Given the description of an element on the screen output the (x, y) to click on. 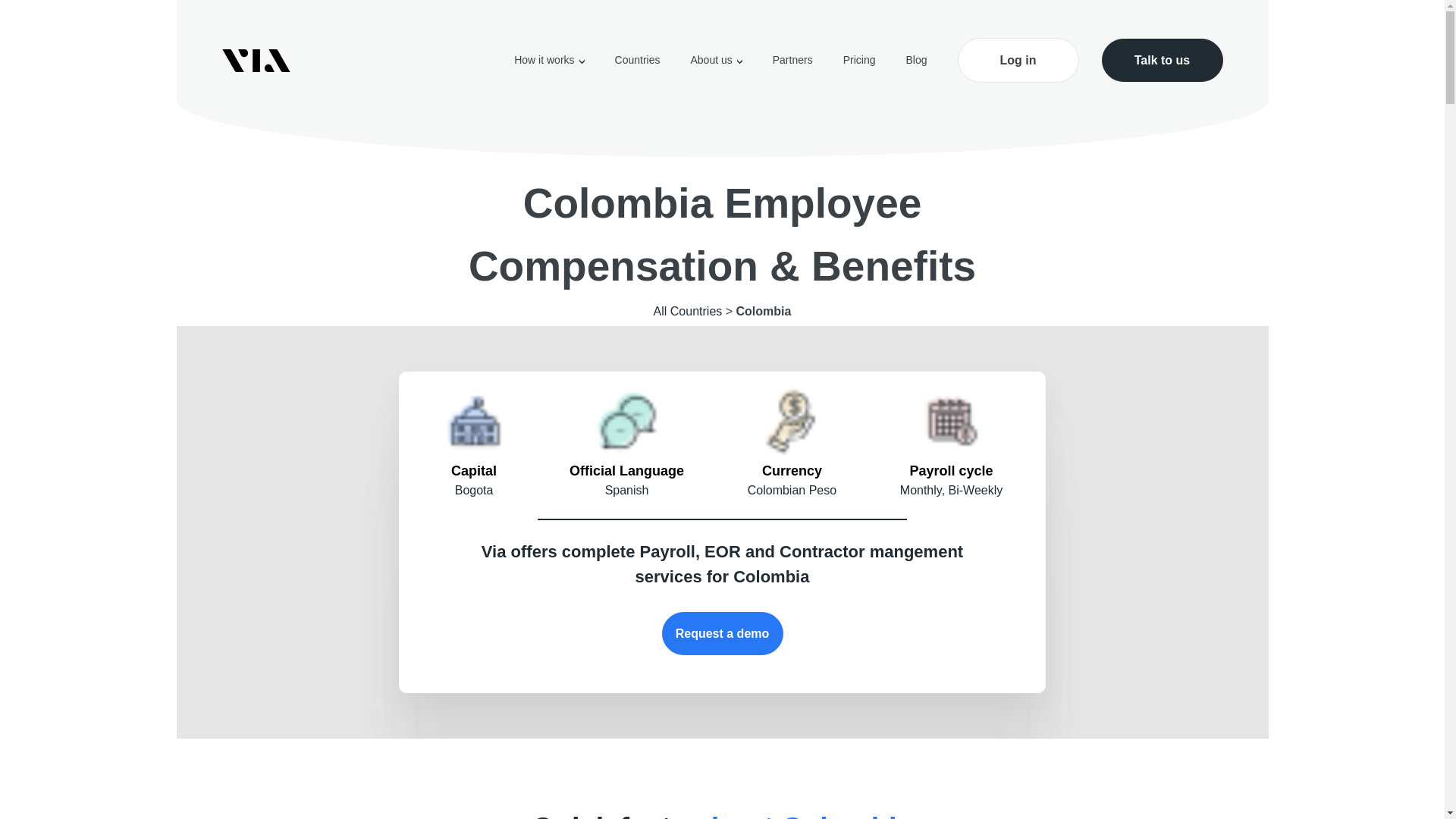
Blog (915, 60)
Talk to us (1161, 59)
Pricing (859, 60)
Log in (1017, 59)
Partners (792, 60)
Countries (637, 60)
All Countries (687, 310)
Request a demo (722, 633)
